Given the description of an element on the screen output the (x, y) to click on. 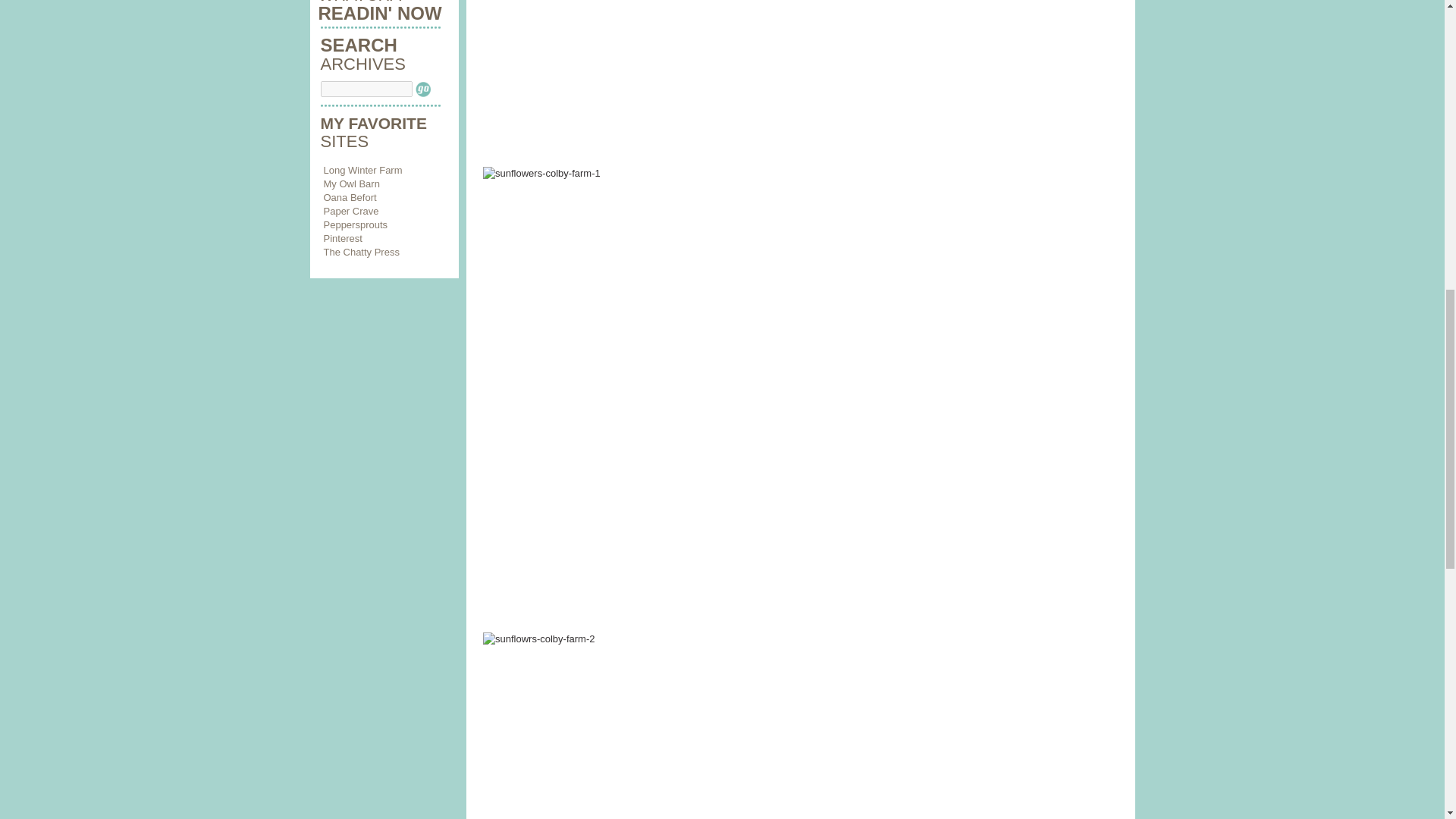
Oana Befort (349, 197)
Peppersprouts (355, 224)
My Owl Barn (350, 183)
Paper Crave (350, 211)
Long Winter Farm (362, 170)
